Given the description of an element on the screen output the (x, y) to click on. 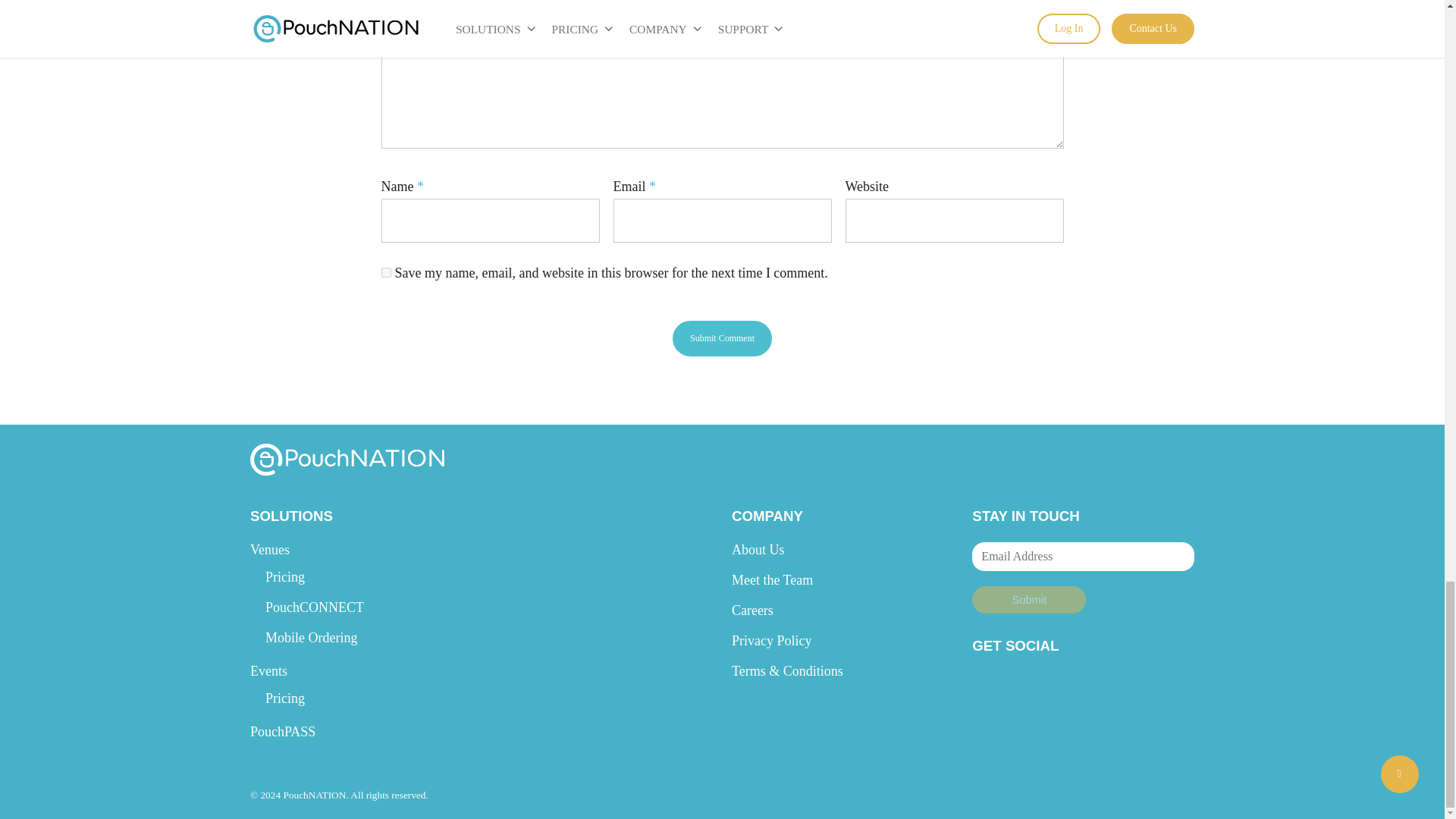
Submit Comment (721, 338)
yes (385, 272)
